Given the description of an element on the screen output the (x, y) to click on. 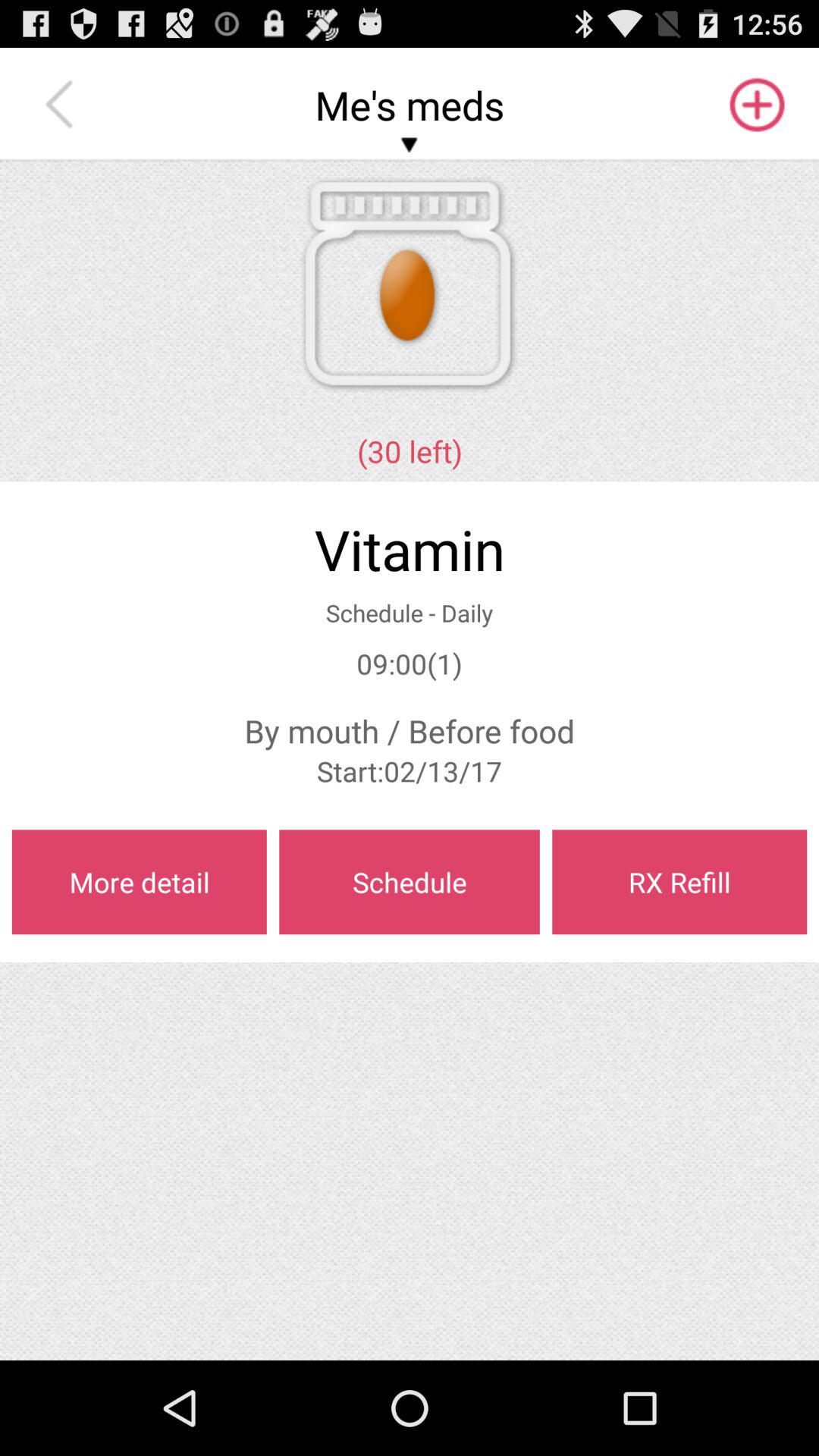
tap item below start 02 13 app (679, 881)
